Given the description of an element on the screen output the (x, y) to click on. 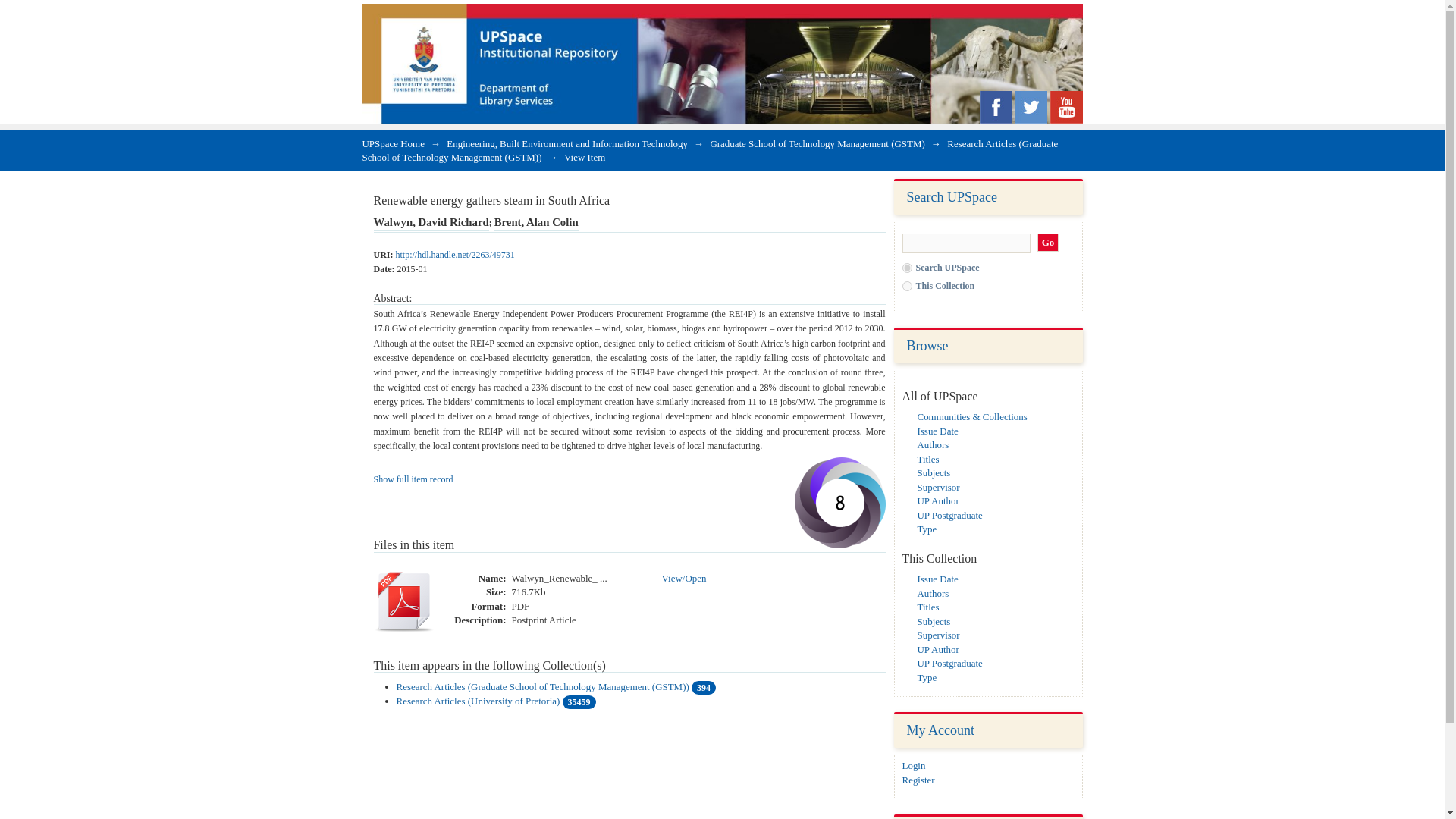
Supervisor (938, 487)
Subjects (933, 621)
Authors (933, 593)
Subjects (933, 472)
Supervisor (938, 634)
Type (927, 677)
UP Author (938, 500)
Register (918, 779)
Authors (933, 444)
UPSpace Home (393, 143)
UP Postgraduate (949, 663)
Engineering, Built Environment and Information Technology (566, 143)
Titles (928, 606)
Type (927, 528)
Postprint Article (543, 620)
